Given the description of an element on the screen output the (x, y) to click on. 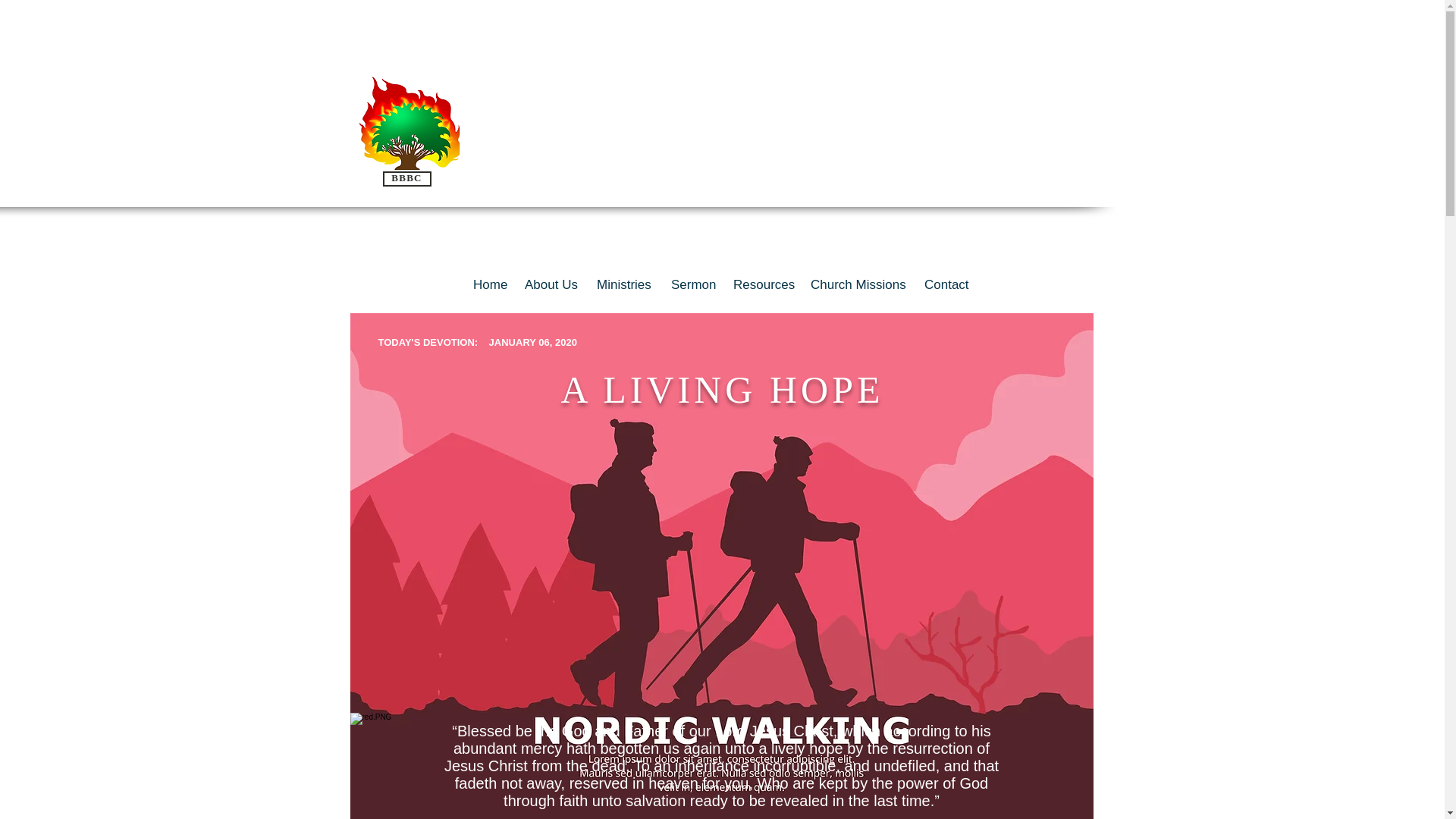
Contact (948, 284)
Ministries (626, 284)
Resources (764, 284)
About Us (552, 284)
Home (490, 284)
Sermon (694, 284)
Church Missions (860, 284)
